Given the description of an element on the screen output the (x, y) to click on. 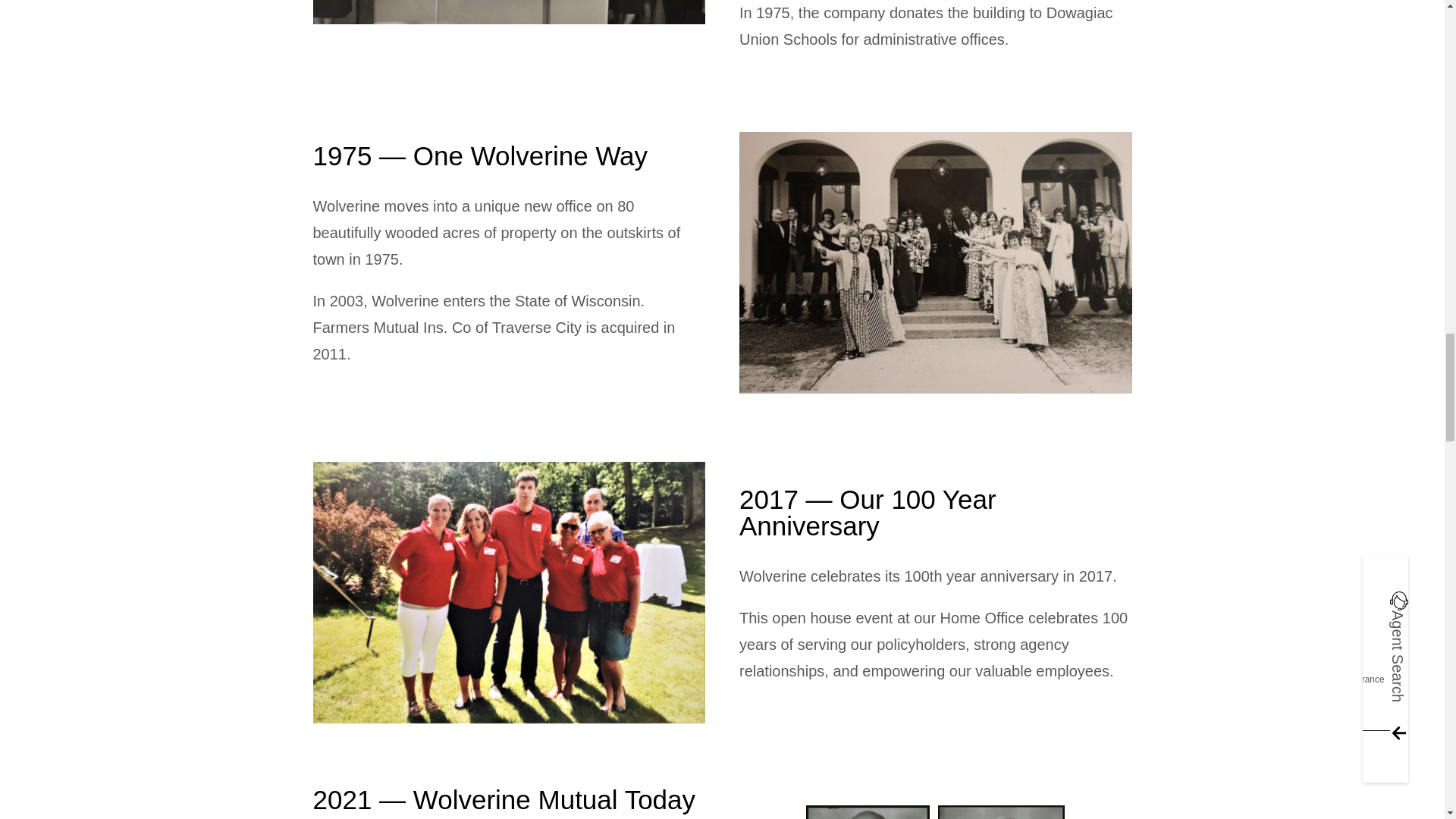
Grand Opening Pic (935, 262)
E Bruce Laing Pic (508, 12)
Jim and Bruce Pic 2 (935, 811)
Group on 100th celebration (508, 592)
